Given the description of an element on the screen output the (x, y) to click on. 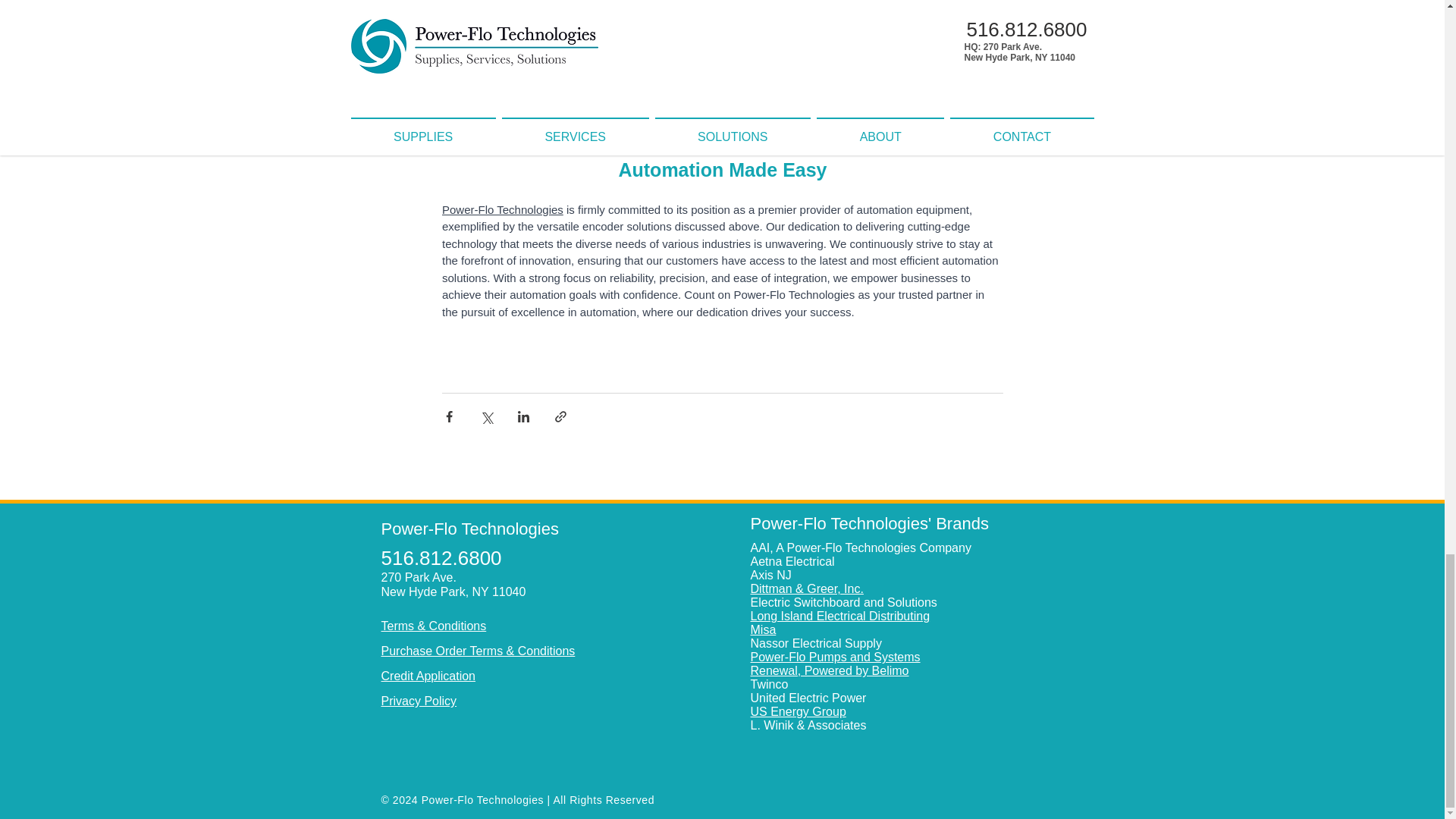
Power-Flo Technologies (501, 209)
